Given the description of an element on the screen output the (x, y) to click on. 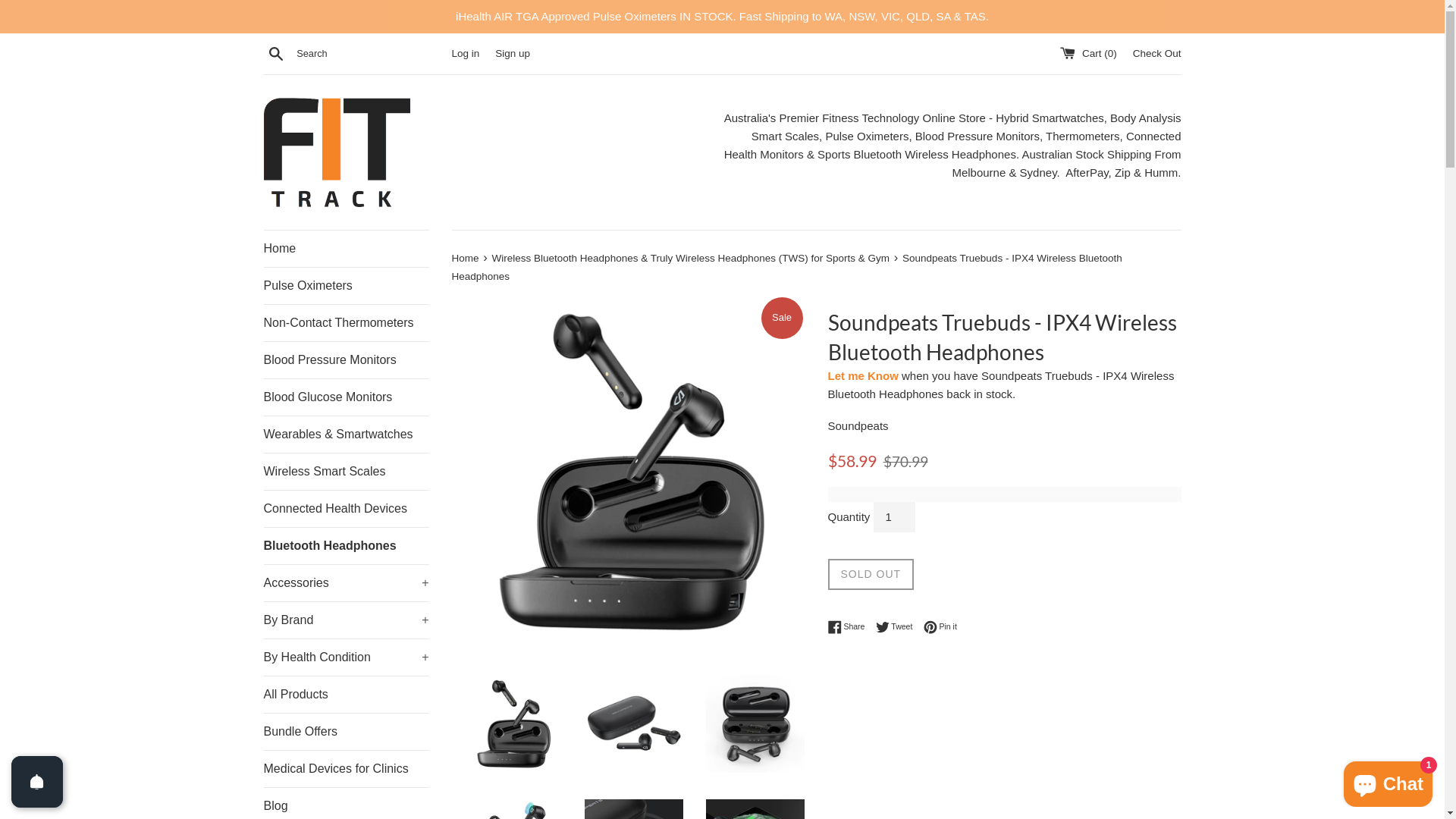
Zip Element type: text (1123, 173)
Sign up Element type: text (512, 53)
Hybrid Smartwatches Element type: text (1049, 118)
Shopify online store chat Element type: hover (1388, 780)
Home Element type: text (346, 248)
Cart (0) Element type: text (1089, 53)
Search Element type: text (275, 52)
Wearables & Smartwatches Element type: text (346, 433)
Wireless Smart Scales Element type: text (346, 471)
Body Analysis Smart Scales Element type: text (966, 127)
Bundle Offers Element type: text (346, 730)
Sports Bluetooth Wireless Headphones Element type: text (916, 154)
Non-Contact Thermometers Element type: text (346, 322)
Blood Pressure Monitors Element type: text (346, 359)
SOLD OUT Element type: text (871, 573)
Pin it
Pin on Pinterest Element type: text (940, 626)
Accessories
+ Element type: text (346, 582)
Pulse Oximeters Element type: text (346, 284)
Humm Element type: text (1160, 173)
Tweet
Tweet on Twitter Element type: text (897, 626)
All Products Element type: text (346, 694)
Bluetooth Headphones Element type: text (346, 545)
Check Out Element type: text (1156, 53)
By Health Condition
+ Element type: text (346, 656)
Connected Health Devices Element type: text (346, 507)
Medical Devices for Clinics Element type: text (346, 768)
Log in Element type: text (465, 53)
Let me Know Element type: text (863, 375)
Blood Glucose Monitors Element type: text (346, 397)
By Brand
+ Element type: text (346, 620)
Home Element type: text (466, 257)
Share
Share on Facebook Element type: text (850, 626)
